Given the description of an element on the screen output the (x, y) to click on. 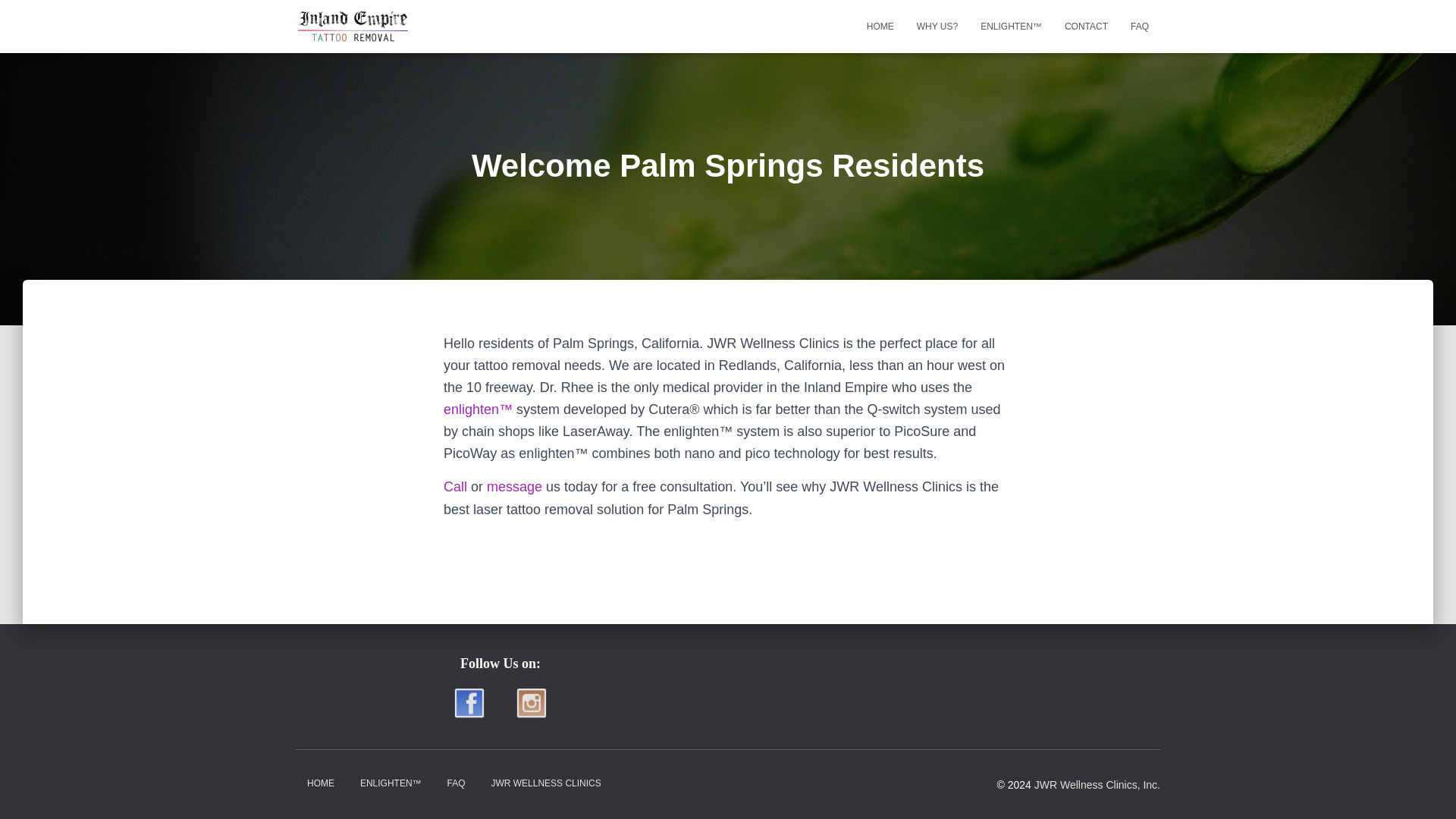
FAQ (1139, 26)
CONTACT (1085, 26)
JWR WELLNESS CLINICS (545, 783)
Contact (1085, 26)
FAQ (455, 783)
FAQ (1139, 26)
Home (880, 26)
JWR Wellness Clinics, Inc. (1096, 784)
message (513, 486)
WHY US? (937, 26)
